Given the description of an element on the screen output the (x, y) to click on. 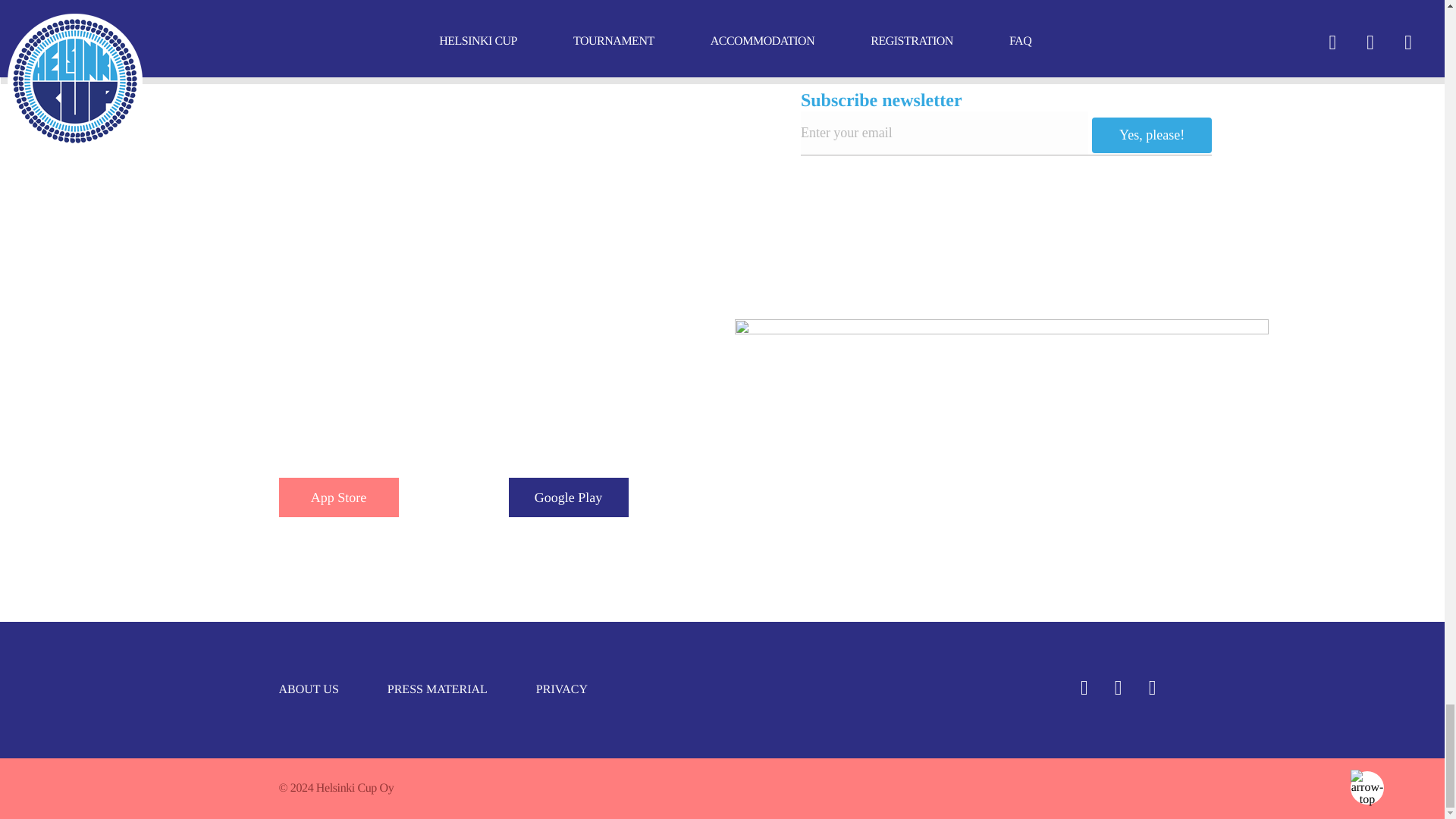
arrow-top (1367, 787)
Yes, please! (1151, 135)
